Given the description of an element on the screen output the (x, y) to click on. 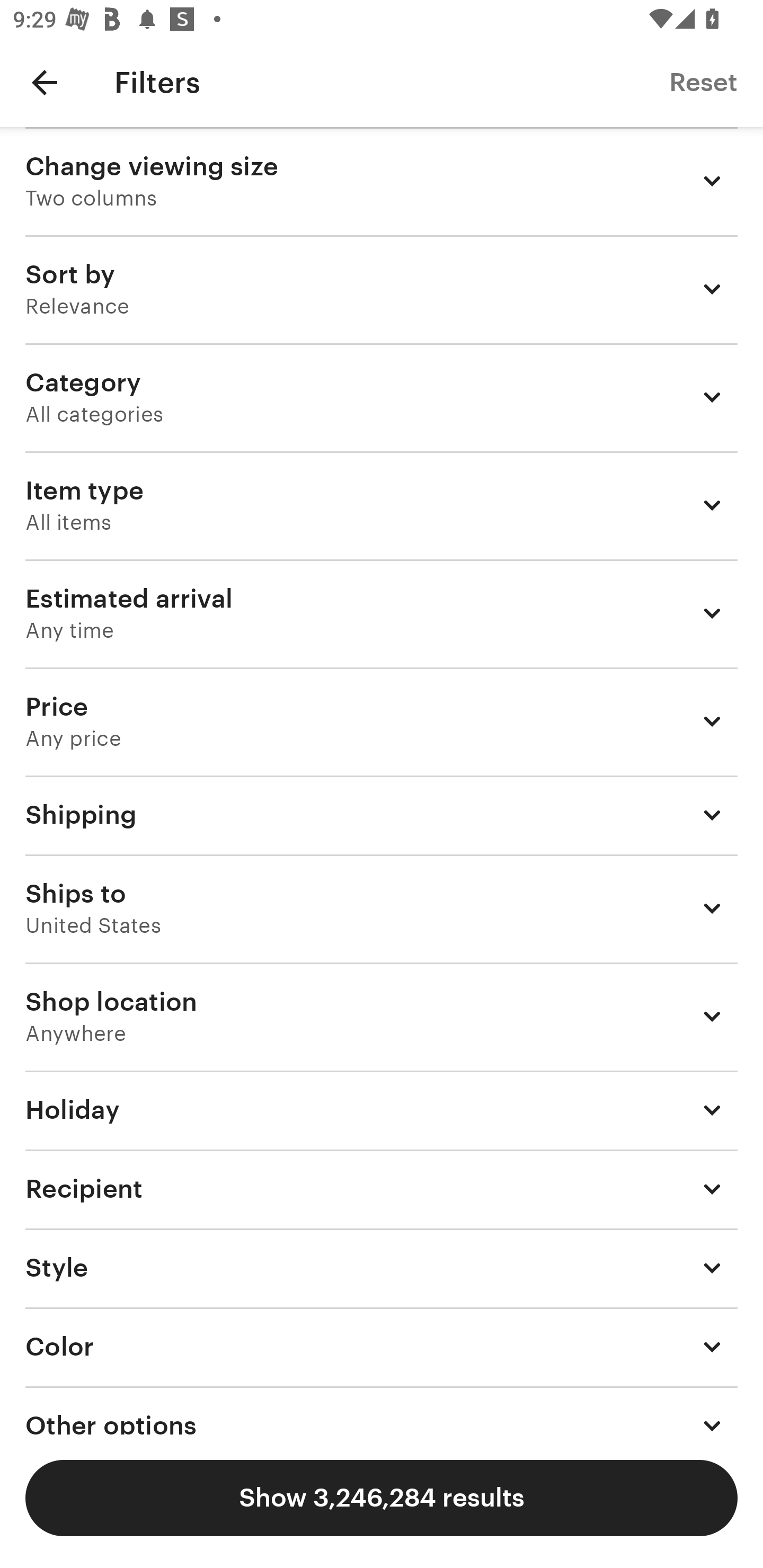
Navigate up (44, 82)
Reset (703, 81)
Change viewing size Two columns (381, 181)
Sort by Relevance (381, 289)
Category All categories (381, 397)
Item type All items (381, 505)
Estimated arrival Any time (381, 613)
Price Any price (381, 721)
Shipping (381, 815)
Ships to United States (381, 908)
Shop location Anywhere (381, 1016)
Holiday (381, 1109)
Recipient (381, 1188)
Style (381, 1267)
Color (381, 1346)
Other options (381, 1410)
Show 3,246,284 results Show results (381, 1497)
